Given the description of an element on the screen output the (x, y) to click on. 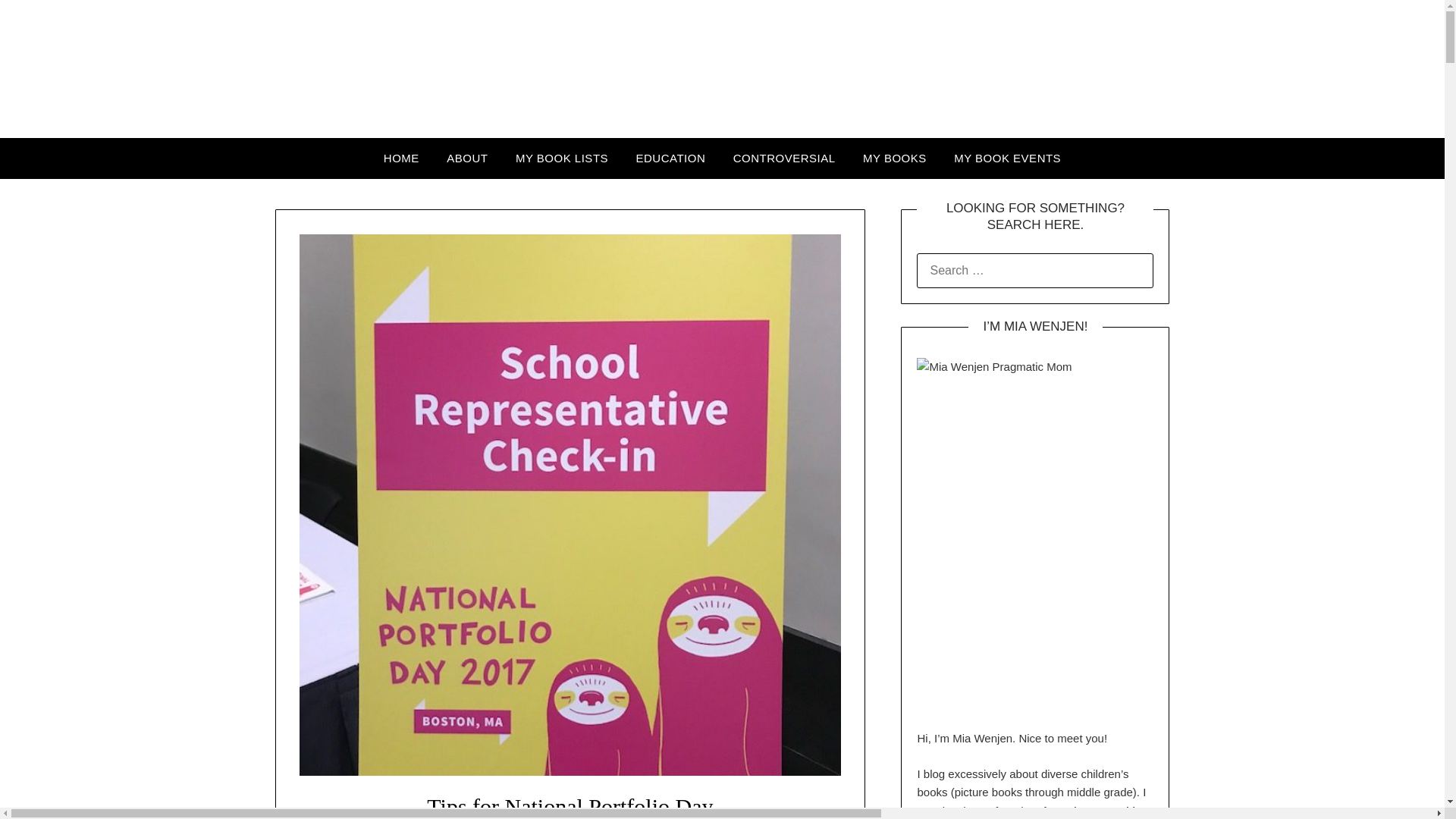
HOME (400, 158)
CONTROVERSIAL (783, 158)
EDUCATION (670, 158)
MY BOOK LISTS (561, 158)
ABOUT (466, 158)
